Given the description of an element on the screen output the (x, y) to click on. 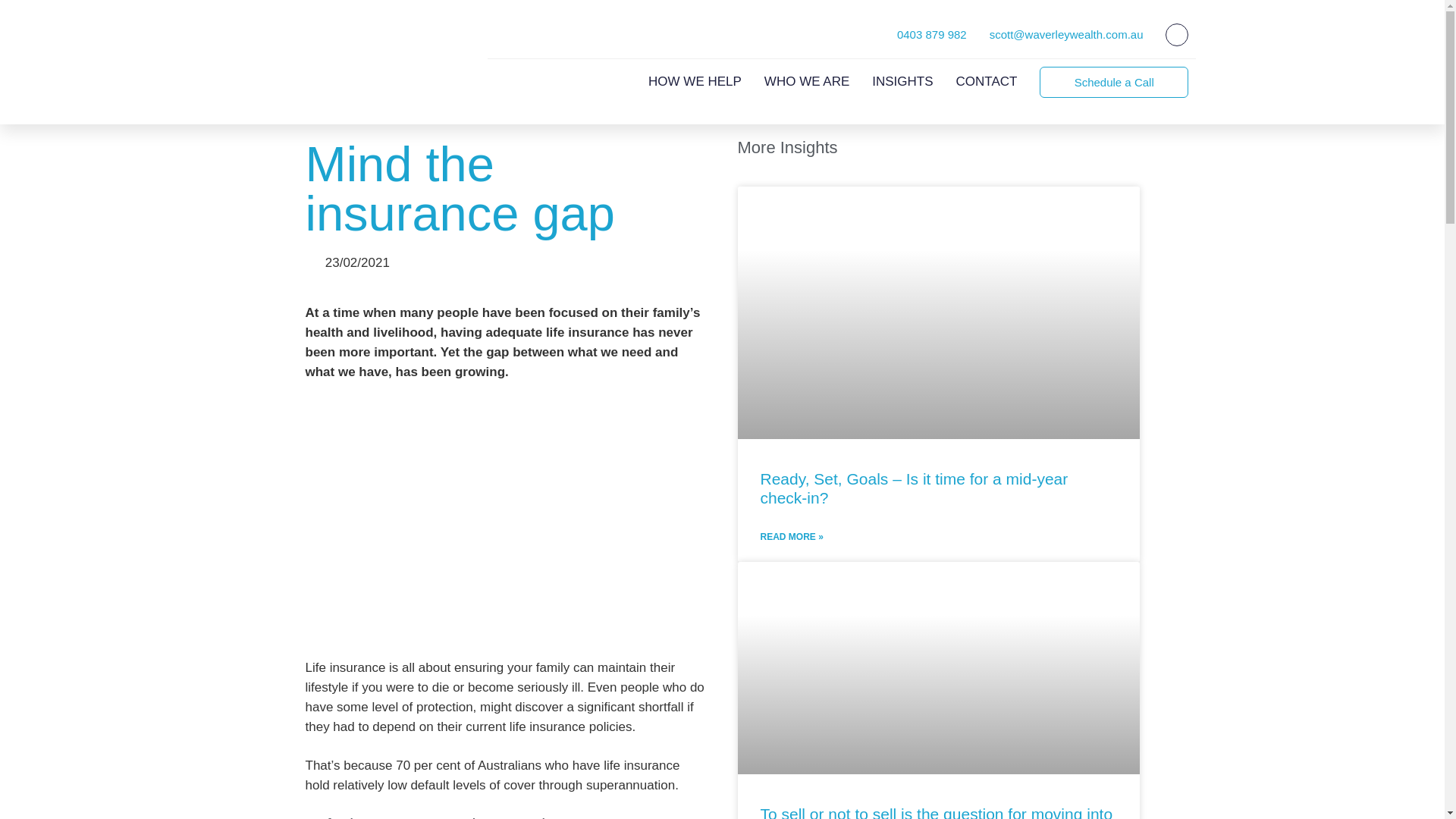
0403 879 982 (931, 33)
Schedule a Call (1113, 81)
WHO WE ARE (807, 81)
HOW WE HELP (694, 81)
CONTACT (987, 81)
INSIGHTS (902, 81)
